Given the description of an element on the screen output the (x, y) to click on. 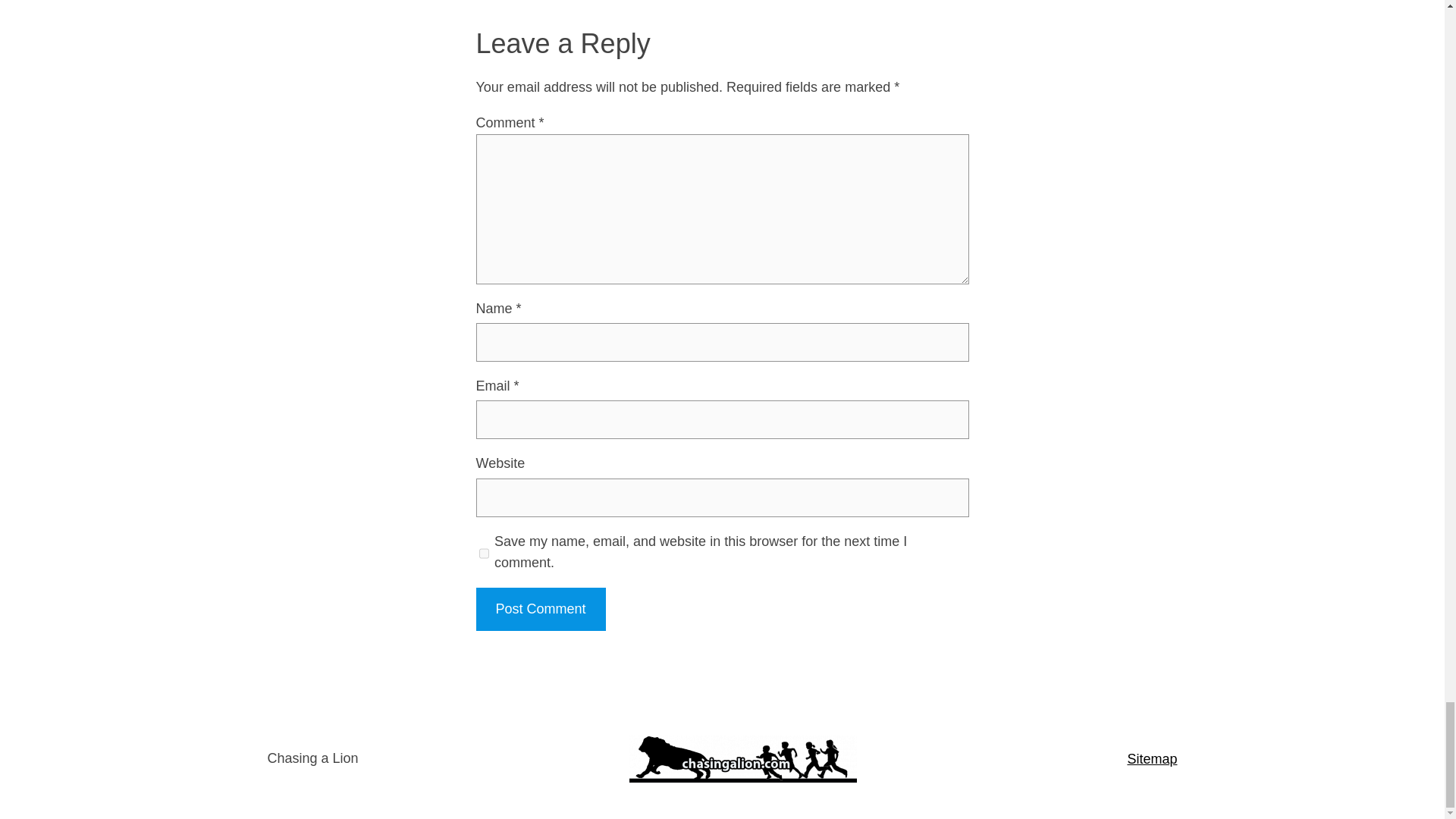
Chasing a Lion (312, 758)
Post Comment (540, 609)
Post Comment (540, 609)
Sitemap (1151, 758)
